Given the description of an element on the screen output the (x, y) to click on. 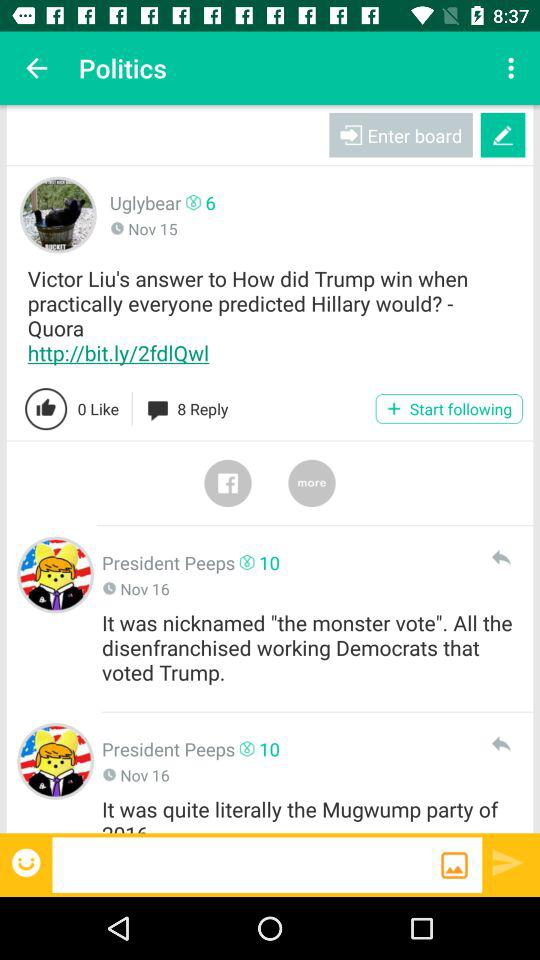
click the more option (312, 483)
